Given the description of an element on the screen output the (x, y) to click on. 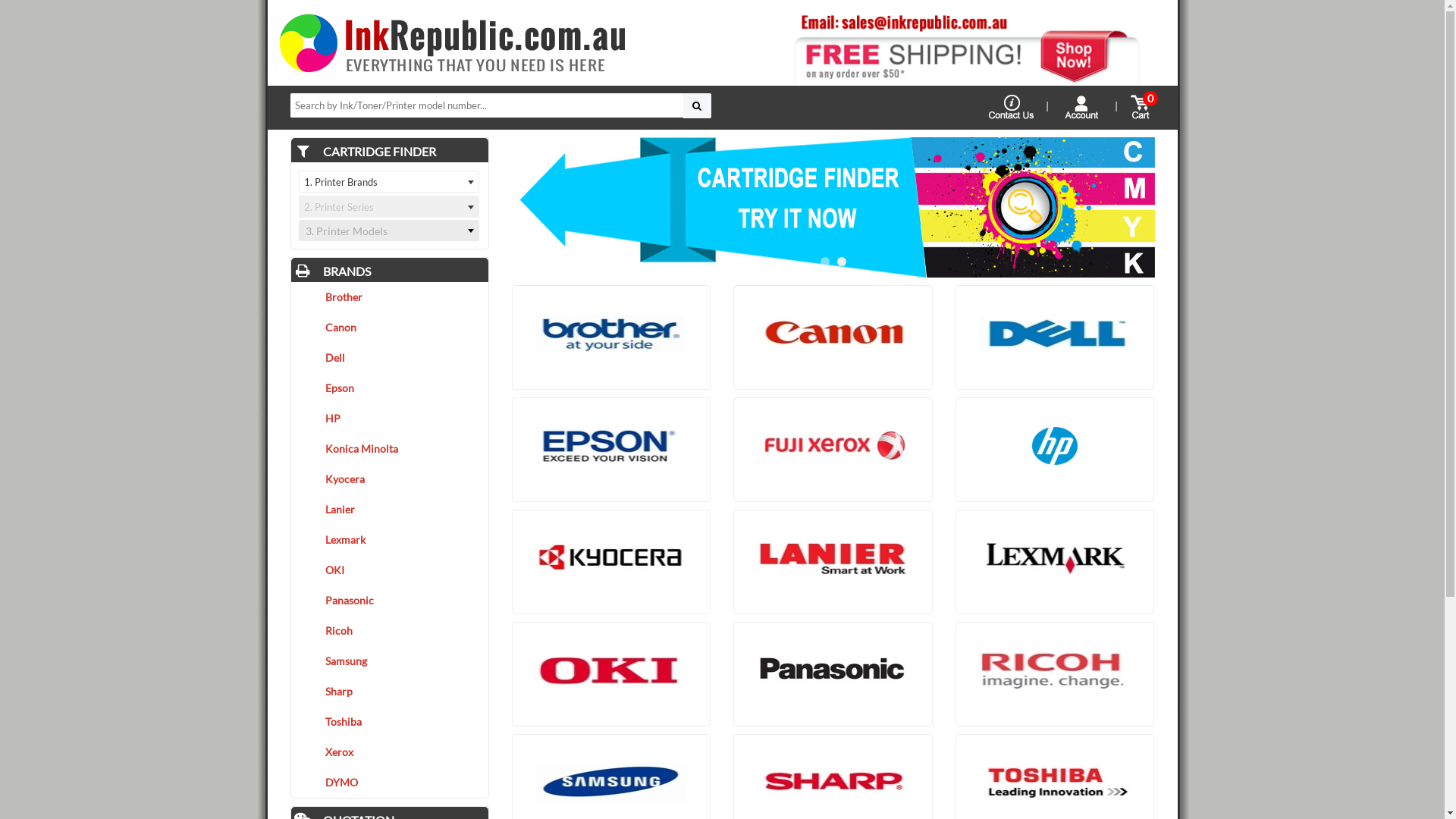
Ink Republic Element type: hover (451, 42)
Samsung Element type: text (390, 661)
DYMO Element type: text (390, 782)
Account Element type: hover (1081, 106)
Lexmark Element type: text (390, 539)
OKI Element type: text (390, 570)
Panasonic Element type: text (390, 600)
HP Element type: text (390, 418)
Cart Element type: hover (1140, 106)
0 Element type: text (1140, 105)
Lanier Element type: text (390, 509)
Kyocera Element type: text (390, 479)
Konica Minolta Element type: text (390, 448)
Ricoh Element type: text (390, 630)
Search Element type: hover (696, 105)
Epson Element type: text (390, 388)
Dell Element type: text (390, 357)
Xerox Element type: text (390, 752)
Toshiba Element type: text (390, 721)
Sharp Element type: text (390, 691)
Canon Element type: text (390, 327)
Contact Element type: hover (1011, 106)
Brother Element type: text (390, 297)
